Given the description of an element on the screen output the (x, y) to click on. 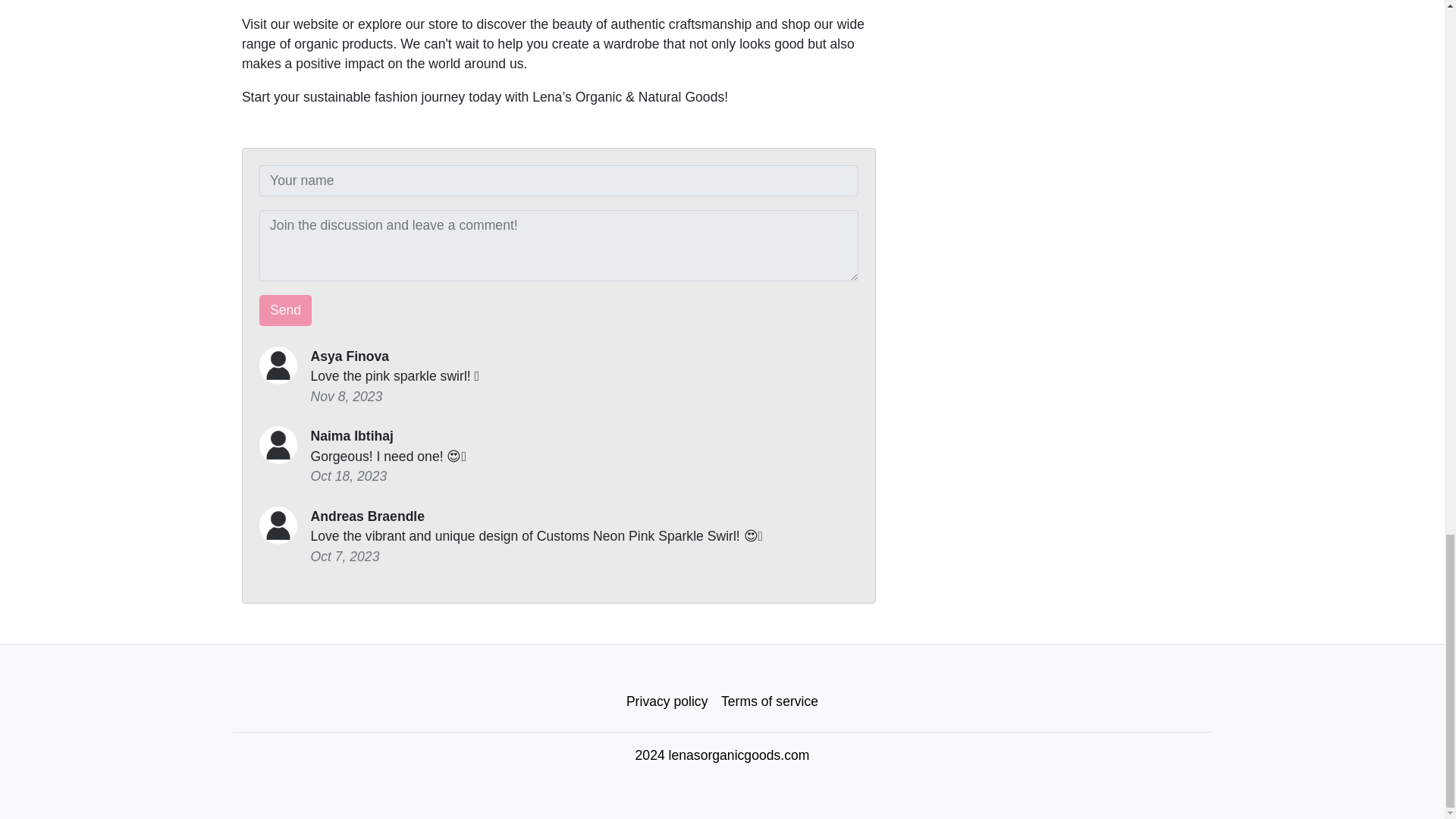
Terms of service (769, 701)
Send (285, 310)
Privacy policy (667, 701)
Send (285, 310)
